Given the description of an element on the screen output the (x, y) to click on. 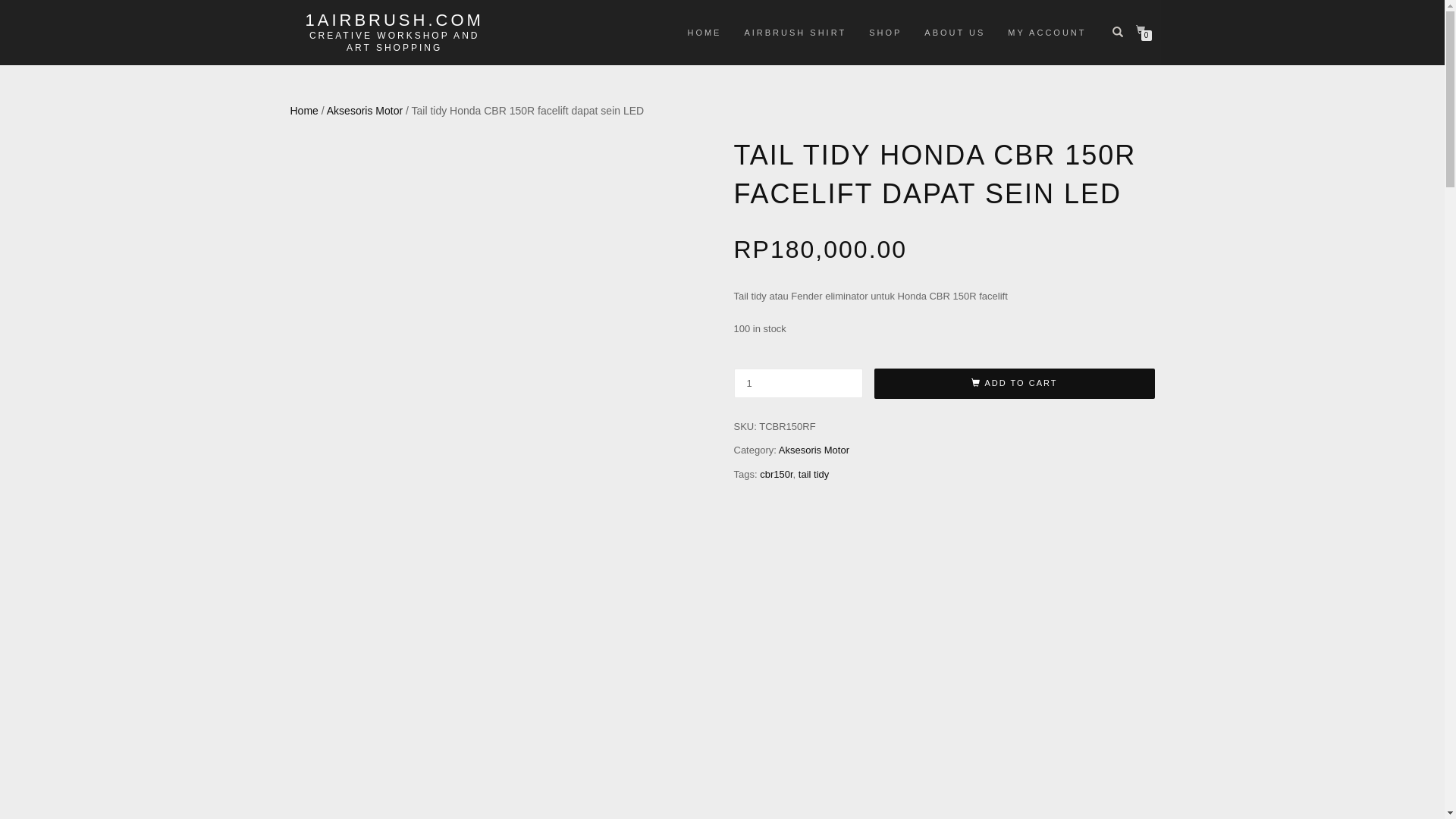
cbr150r Element type: text (775, 474)
1AIRBRUSH.COM Element type: text (393, 20)
ABOUT US Element type: text (954, 32)
ADD TO CART Element type: text (1013, 383)
AIRBRUSH SHIRT Element type: text (794, 32)
SHOP Element type: text (885, 32)
Home Element type: text (303, 110)
CREATIVE WORKSHOP AND ART SHOPPING Element type: text (393, 41)
Qty Element type: hover (798, 383)
Aksesoris Motor Element type: text (813, 449)
HOME Element type: text (703, 32)
0 Element type: text (1143, 29)
MY ACCOUNT Element type: text (1046, 32)
tail tidy Element type: text (813, 474)
Aksesoris Motor Element type: text (364, 110)
